Given the description of an element on the screen output the (x, y) to click on. 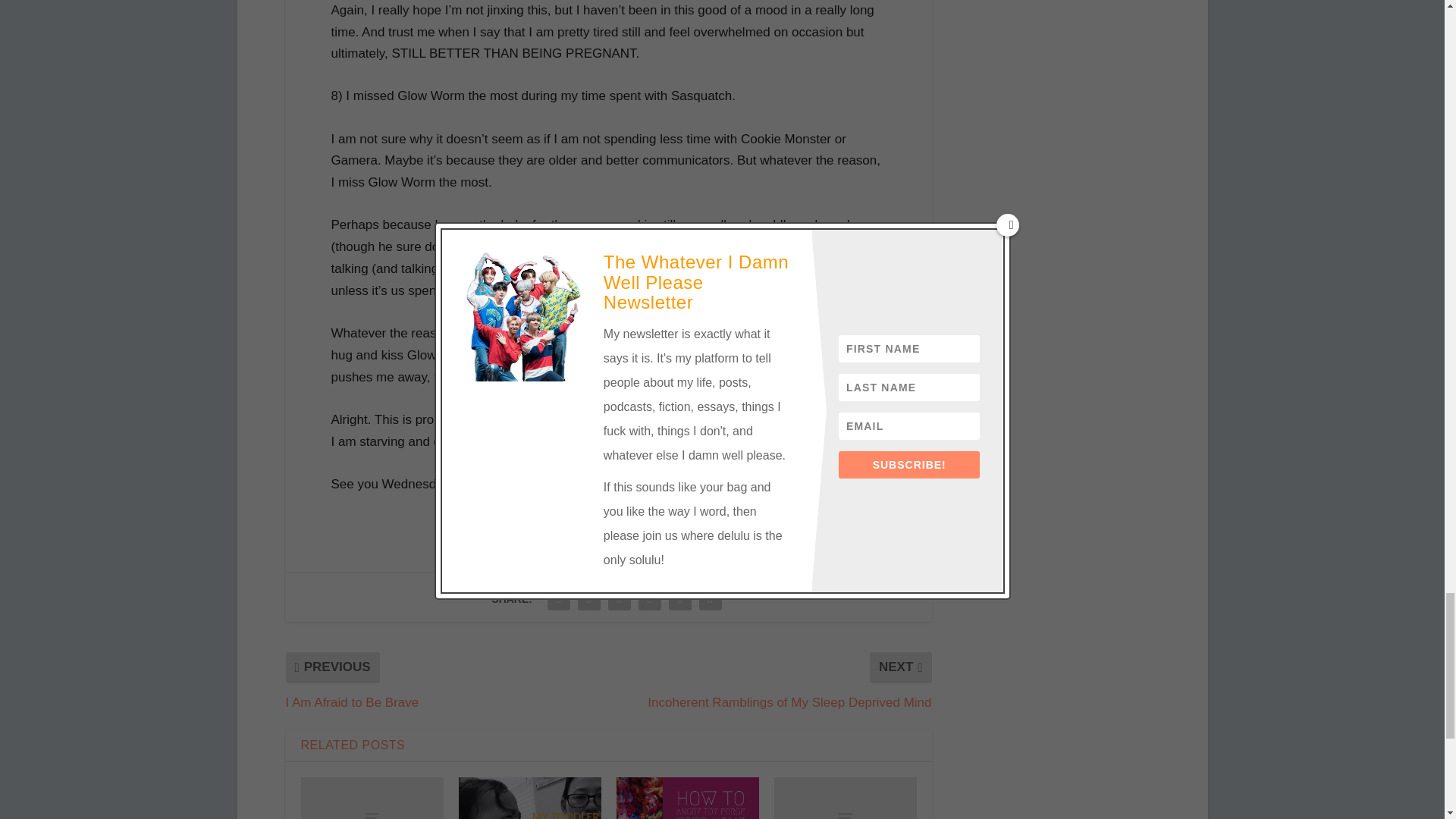
Share "I Can Still Be Surprised" via Print (710, 598)
Share "I Can Still Be Surprised" via LinkedIn (649, 598)
How to Angry Toy Purge Your Home (686, 798)
More Random Thoughts (844, 798)
Ramblings of a Congested Mind (370, 798)
Share "I Can Still Be Surprised" via Facebook (558, 598)
My Toddler, the Tyrant (528, 798)
Share "I Can Still Be Surprised" via Tumblr (619, 598)
Share "I Can Still Be Surprised" via Email (680, 598)
Share "I Can Still Be Surprised" via Twitter (588, 598)
